Given the description of an element on the screen output the (x, y) to click on. 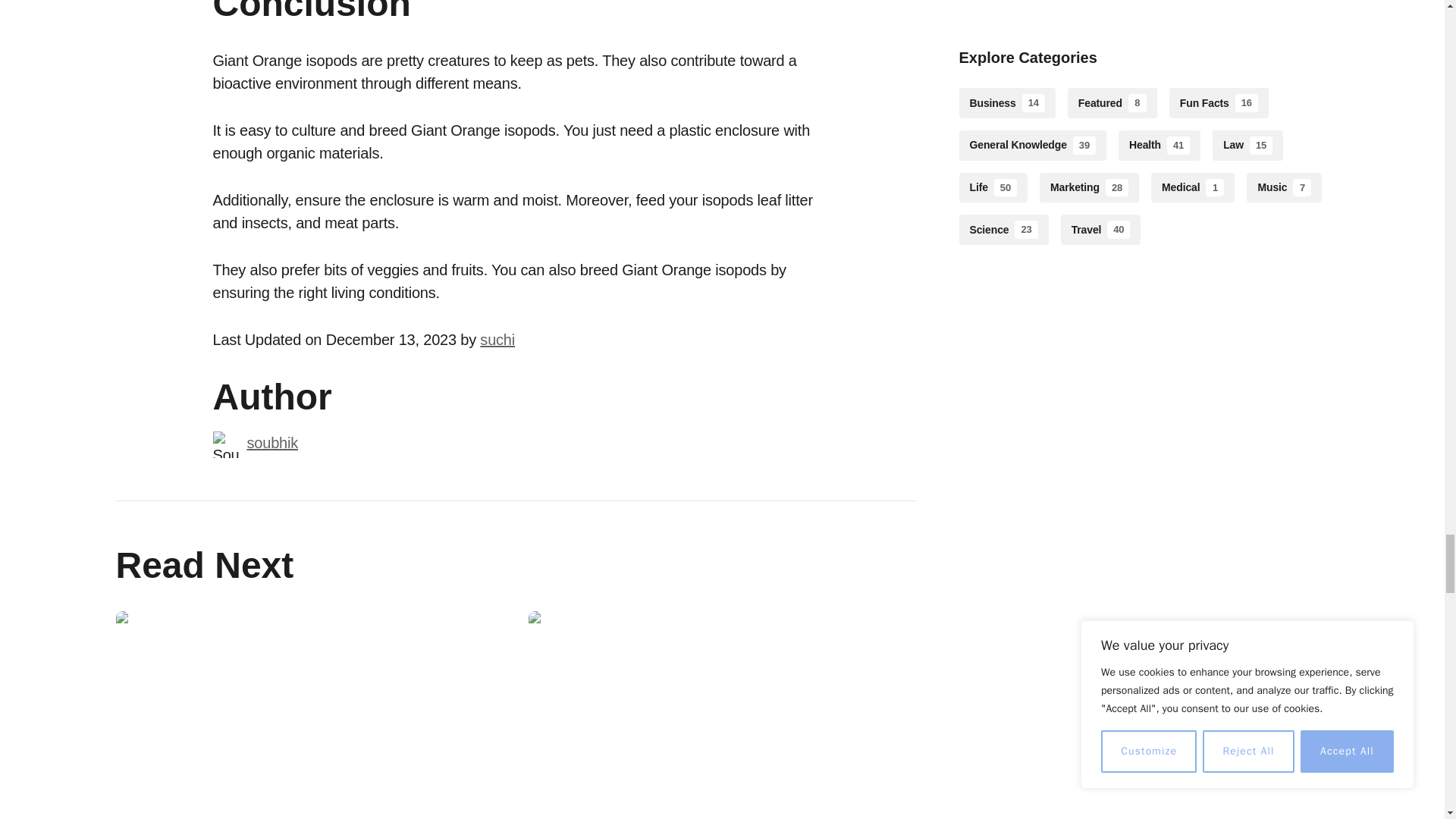
soubhik (272, 442)
The Complete Guide to Taking Care of Giant Orange Isopods 4 (225, 444)
